Given the description of an element on the screen output the (x, y) to click on. 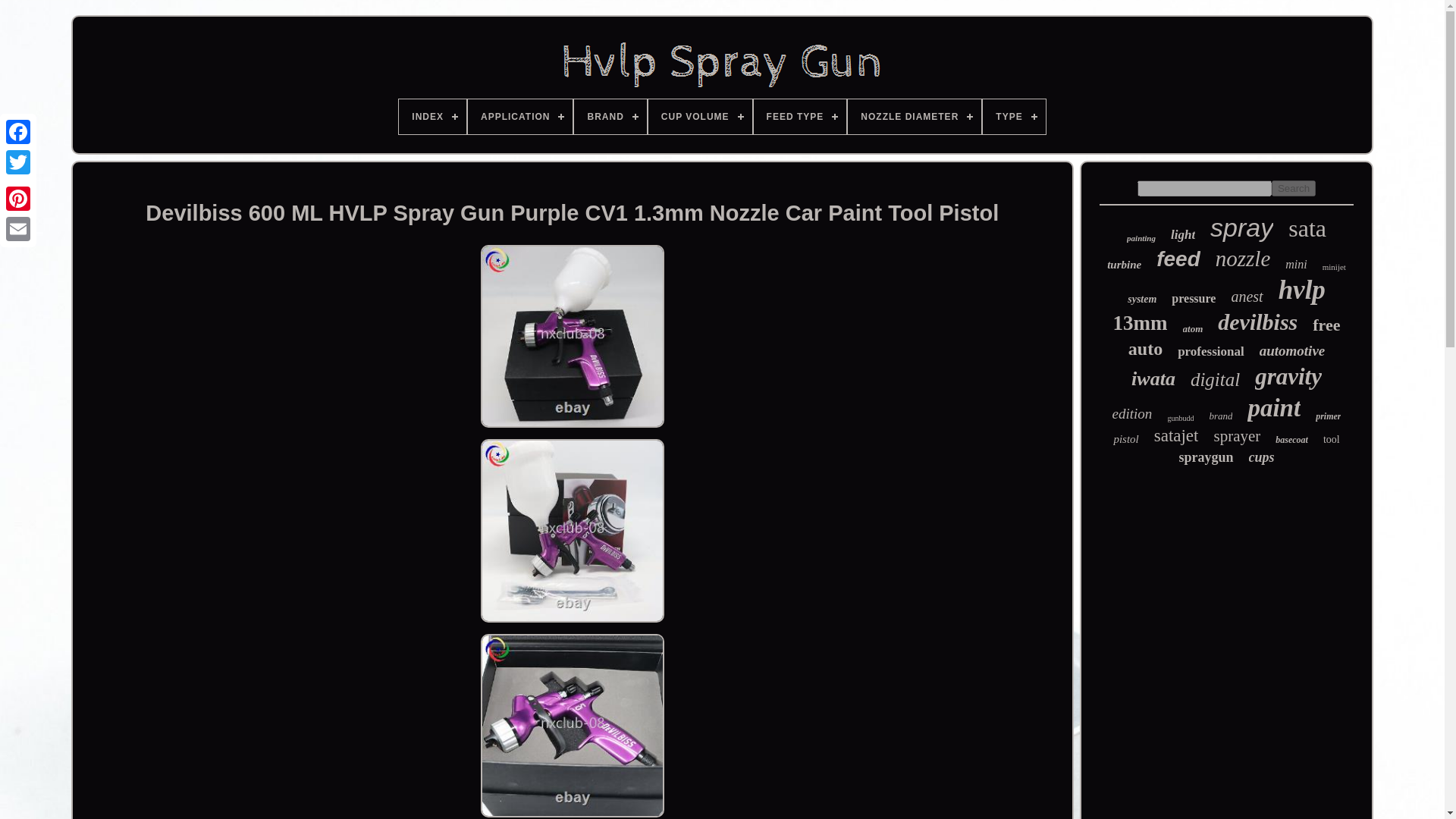
INDEX (431, 116)
APPLICATION (519, 116)
Facebook (17, 132)
BRAND (609, 116)
CUP VOLUME (699, 116)
Search (1293, 188)
